Given the description of an element on the screen output the (x, y) to click on. 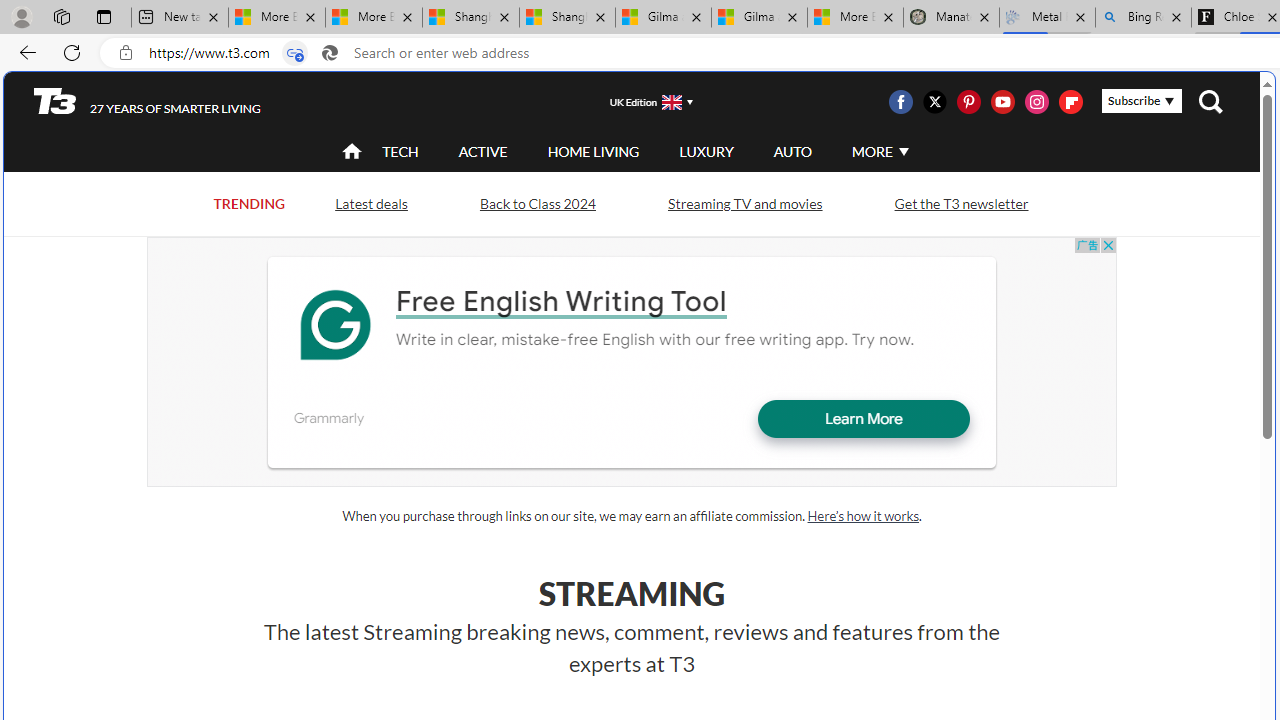
Visit us on Flipboard (1070, 101)
T3 27 YEARS OF SMARTER LIVING (147, 101)
Latest deals (370, 202)
